Given the description of an element on the screen output the (x, y) to click on. 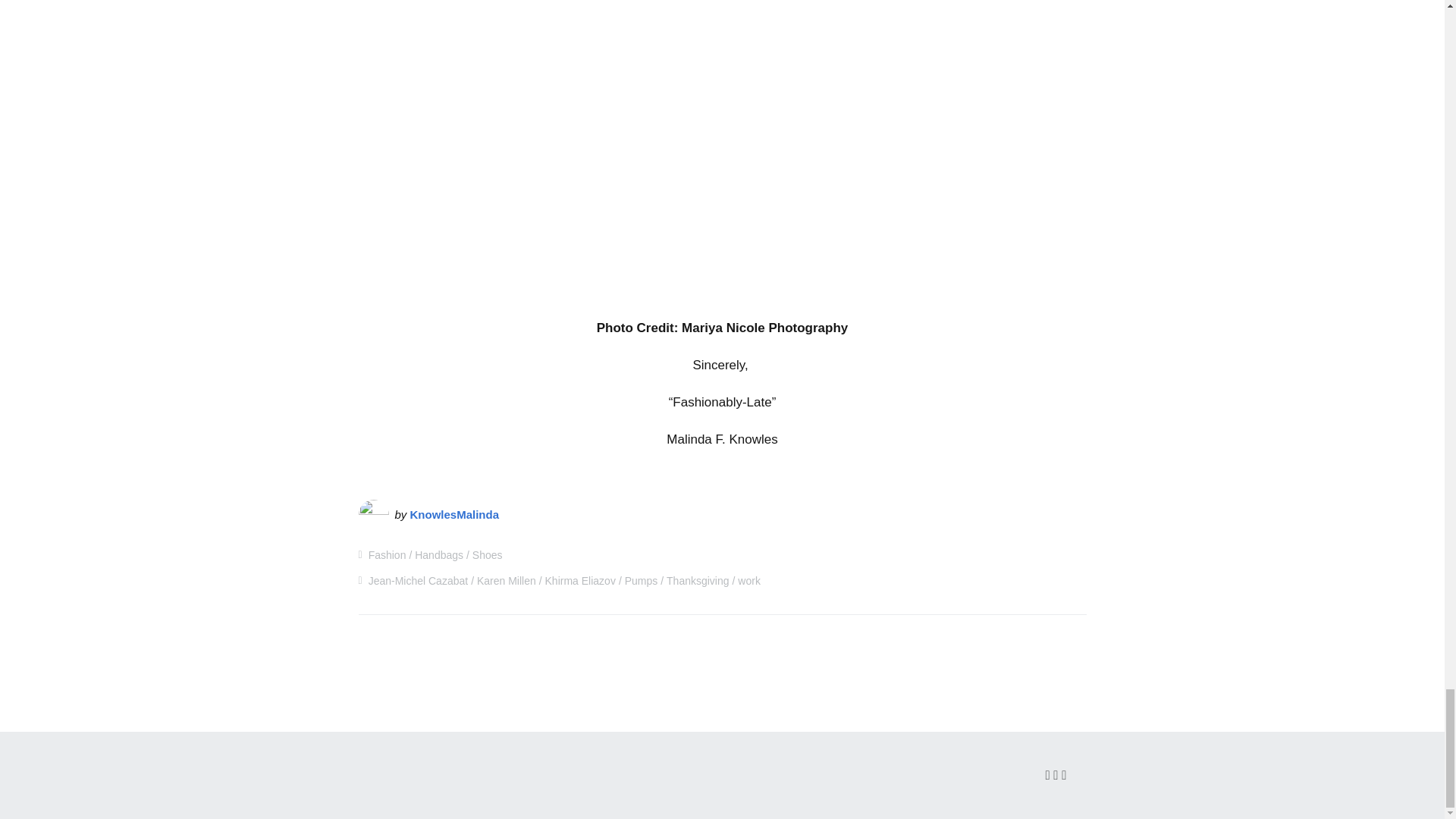
Pumps (641, 580)
Jean-Michel Cazabat (418, 580)
KnowlesMalinda (454, 513)
Karen Millen (506, 580)
work (749, 580)
Shoes (486, 554)
Fashion (387, 554)
Khirma Eliazov (579, 580)
Handbags (438, 554)
Thanksgiving (697, 580)
